Given the description of an element on the screen output the (x, y) to click on. 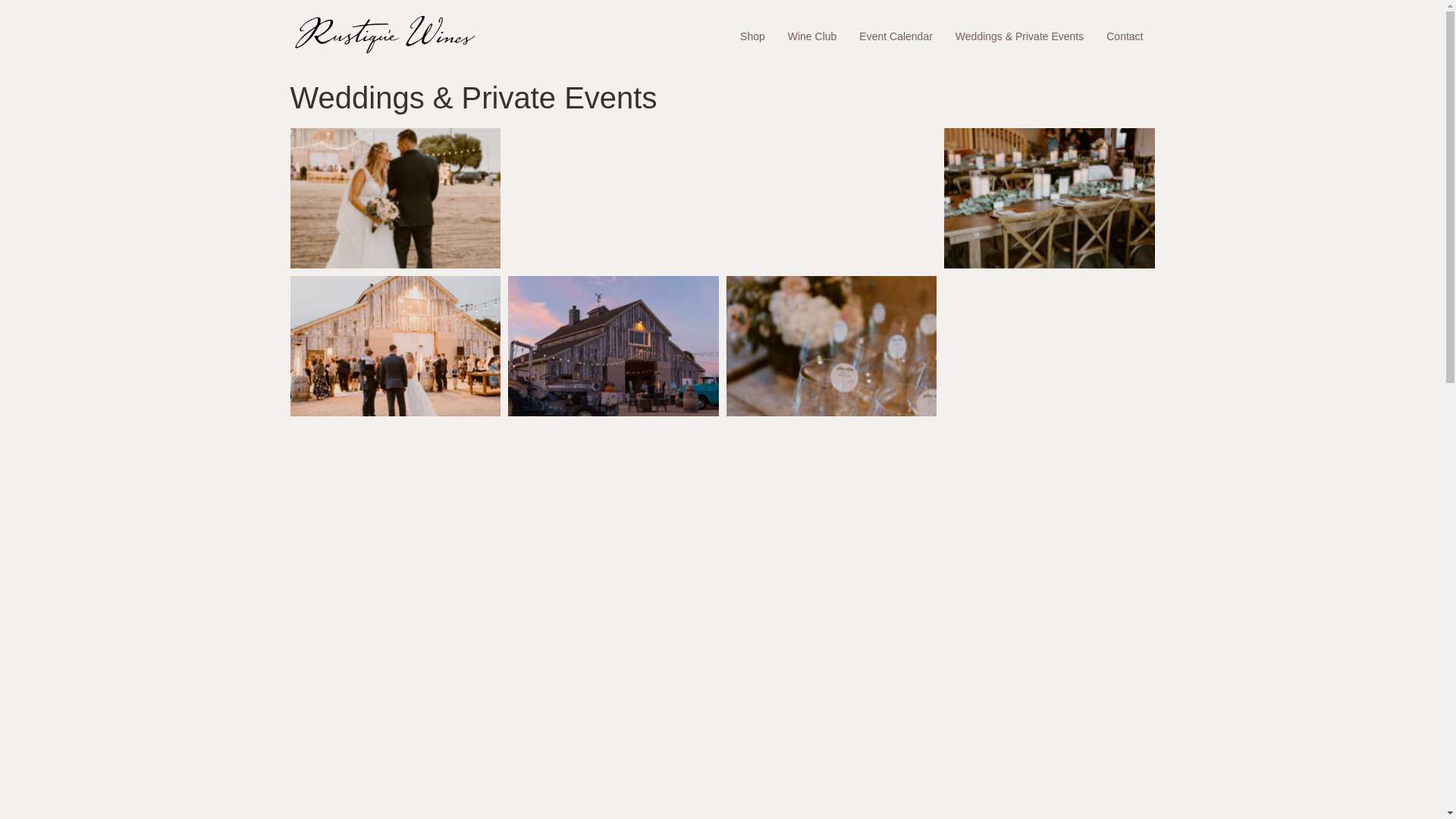
Contact (1124, 36)
Event Calendar (895, 36)
Shop (752, 36)
Wine Club (812, 36)
